Given the description of an element on the screen output the (x, y) to click on. 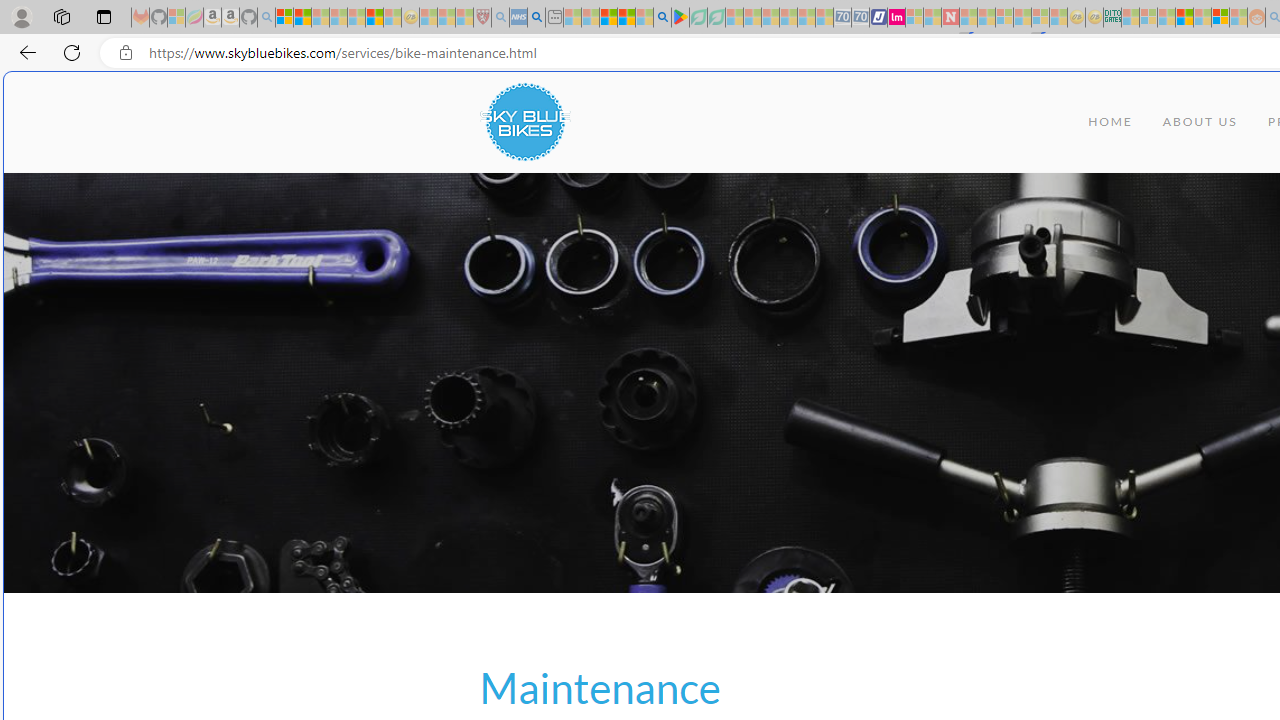
HOME (1110, 122)
NCL Adult Asthma Inhaler Choice Guideline - Sleeping (518, 17)
Recipes - MSN - Sleeping (427, 17)
Microsoft-Report a Concern to Bing - Sleeping (176, 17)
Cheap Car Rentals - Save70.com - Sleeping (842, 17)
Back (24, 52)
MSNBC - MSN - Sleeping (1130, 17)
Workspaces (61, 16)
ABOUT US (1199, 122)
New tab - Sleeping (554, 17)
The Weather Channel - MSN - Sleeping (320, 17)
Refresh (72, 52)
